Given the description of an element on the screen output the (x, y) to click on. 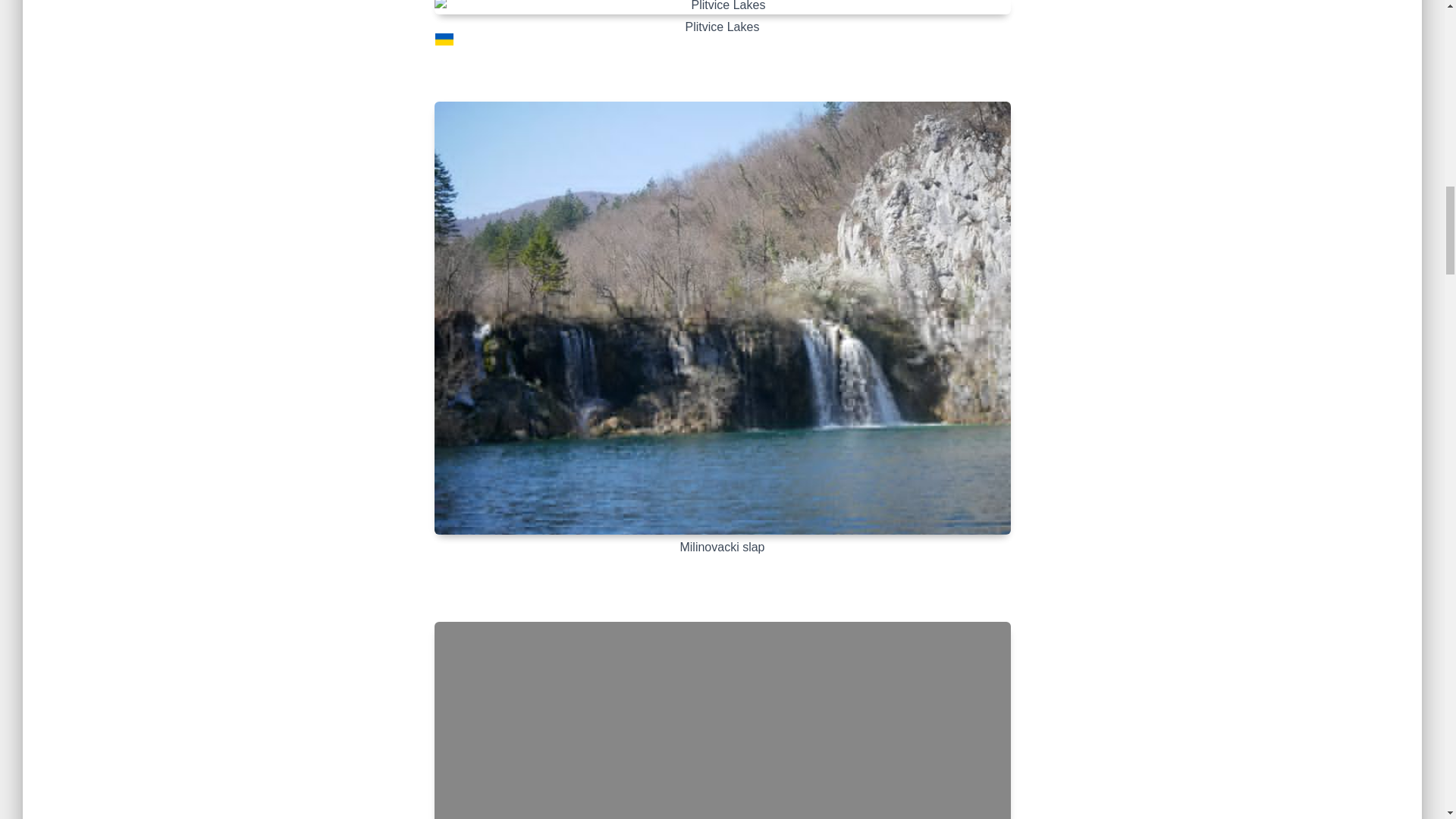
Plitvice Lakes (721, 7)
Milka Trnina Cascades (721, 720)
